Given the description of an element on the screen output the (x, y) to click on. 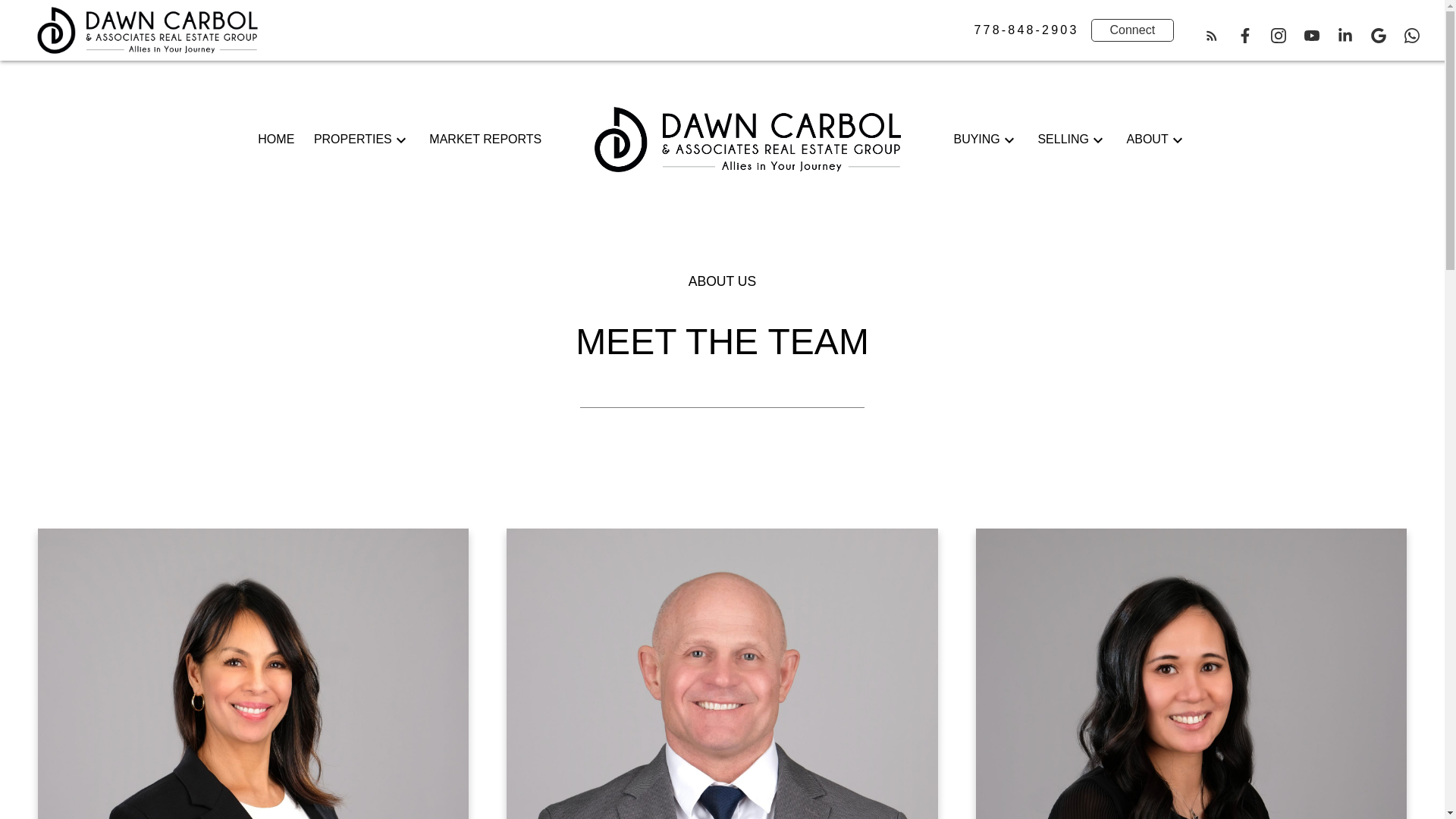
MARKET REPORTS (485, 139)
Connect (1132, 29)
HOME (275, 139)
